Given the description of an element on the screen output the (x, y) to click on. 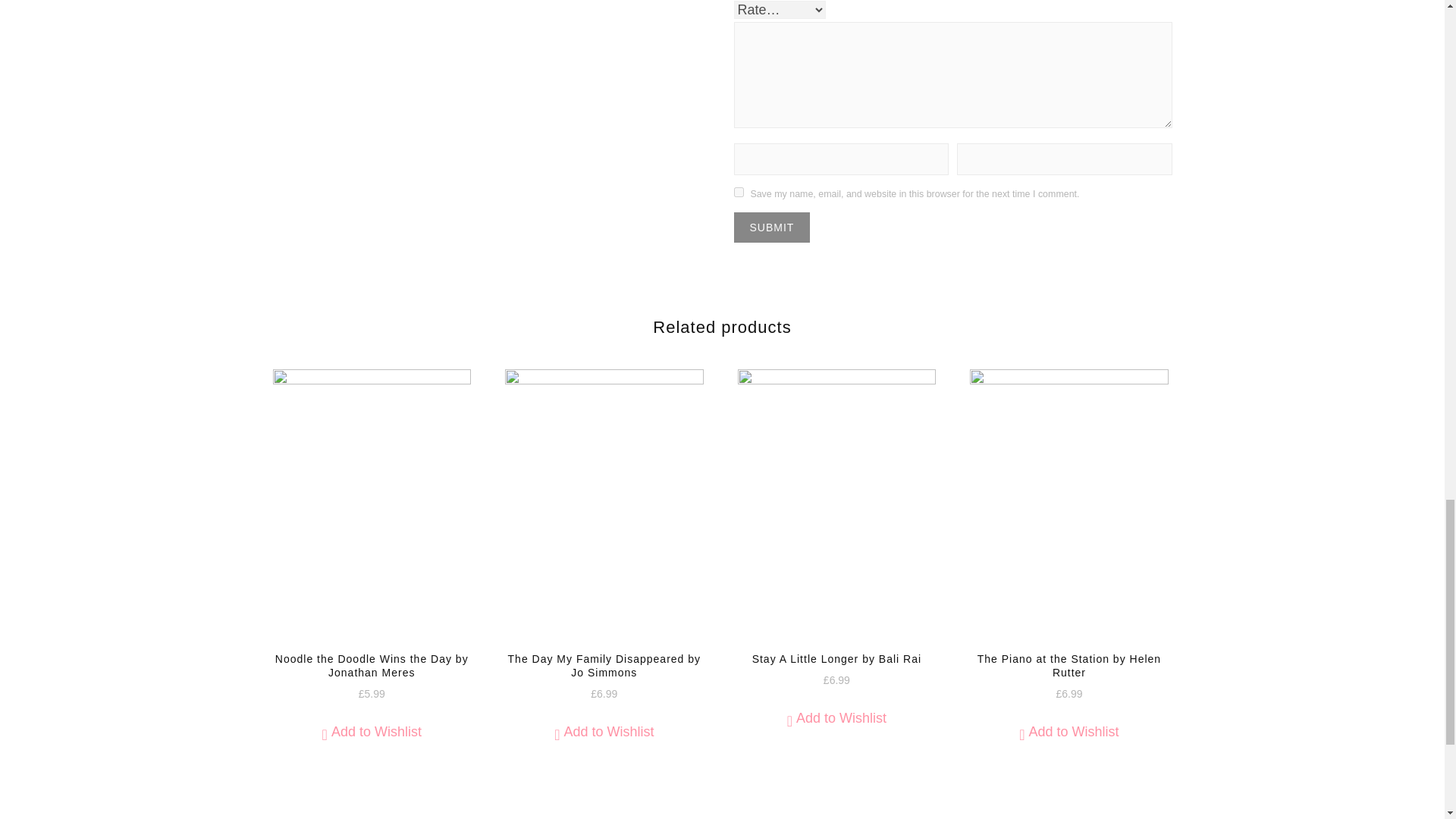
Submit (771, 227)
yes (738, 192)
